Given the description of an element on the screen output the (x, y) to click on. 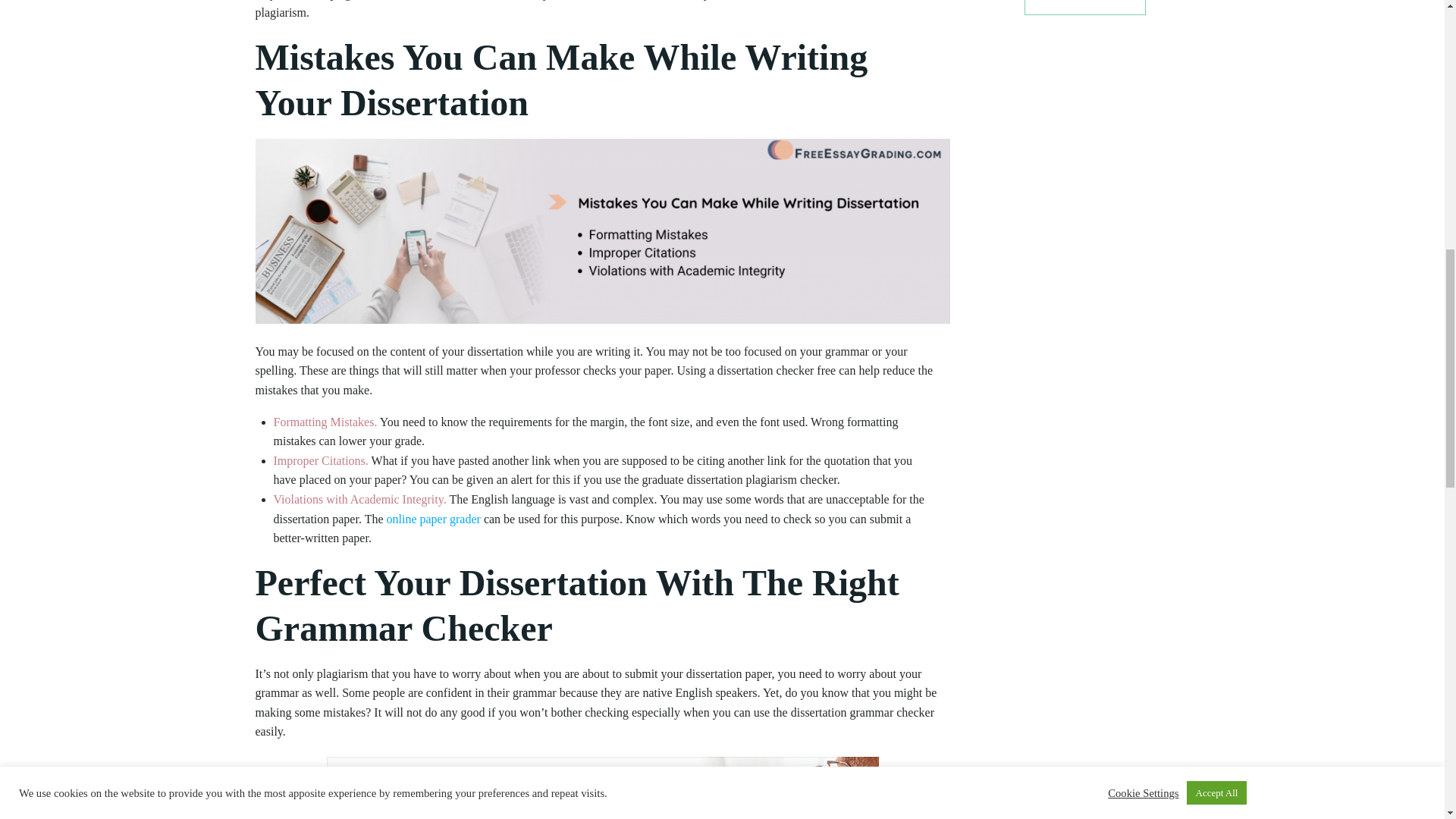
dissertation checker (602, 230)
online paper grader (433, 518)
